Given the description of an element on the screen output the (x, y) to click on. 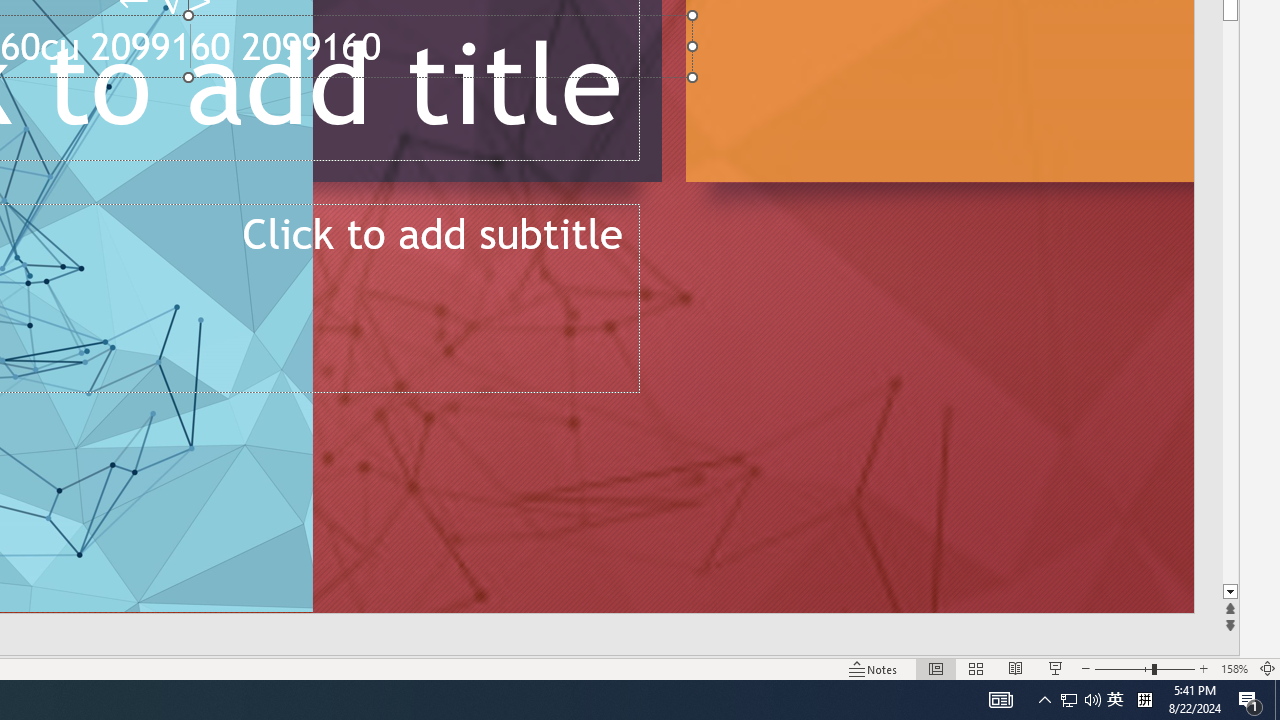
Zoom 158% (1234, 668)
